Given the description of an element on the screen output the (x, y) to click on. 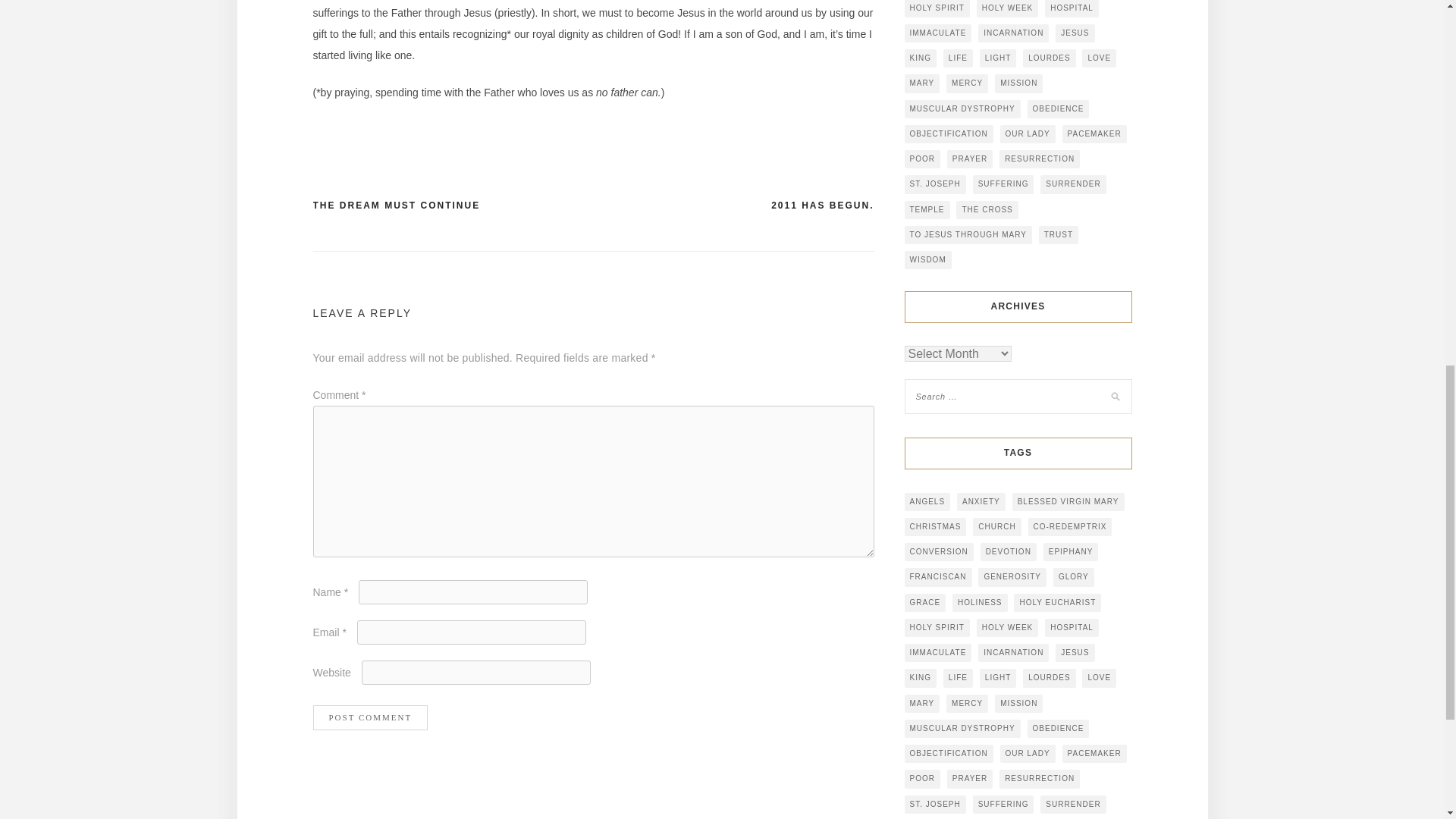
Post Comment (370, 717)
Post Comment (370, 717)
THE DREAM MUST CONTINUE (396, 206)
2011 HAS BEGUN. (822, 206)
